Given the description of an element on the screen output the (x, y) to click on. 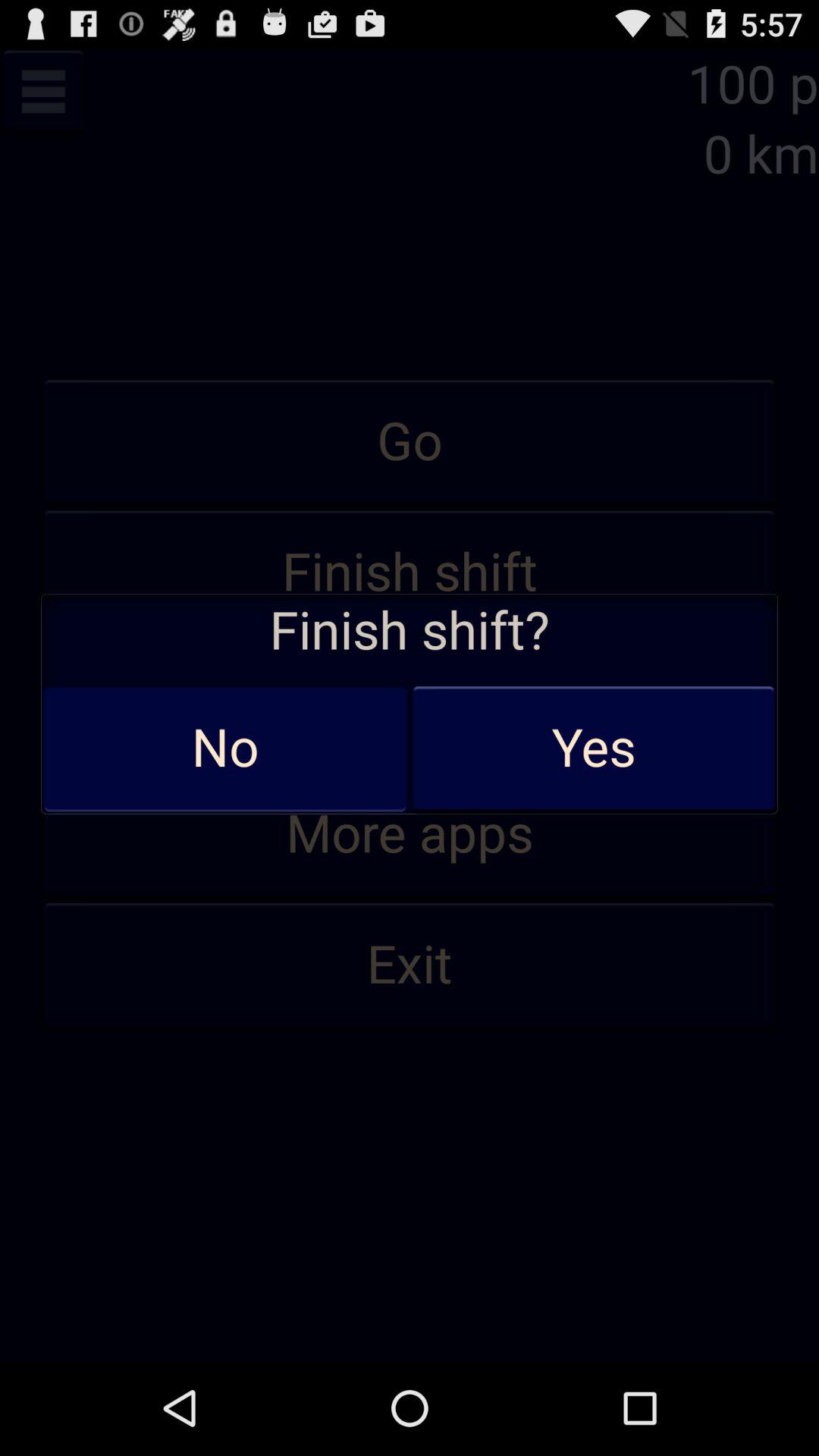
open the icon above exit app (409, 834)
